Given the description of an element on the screen output the (x, y) to click on. 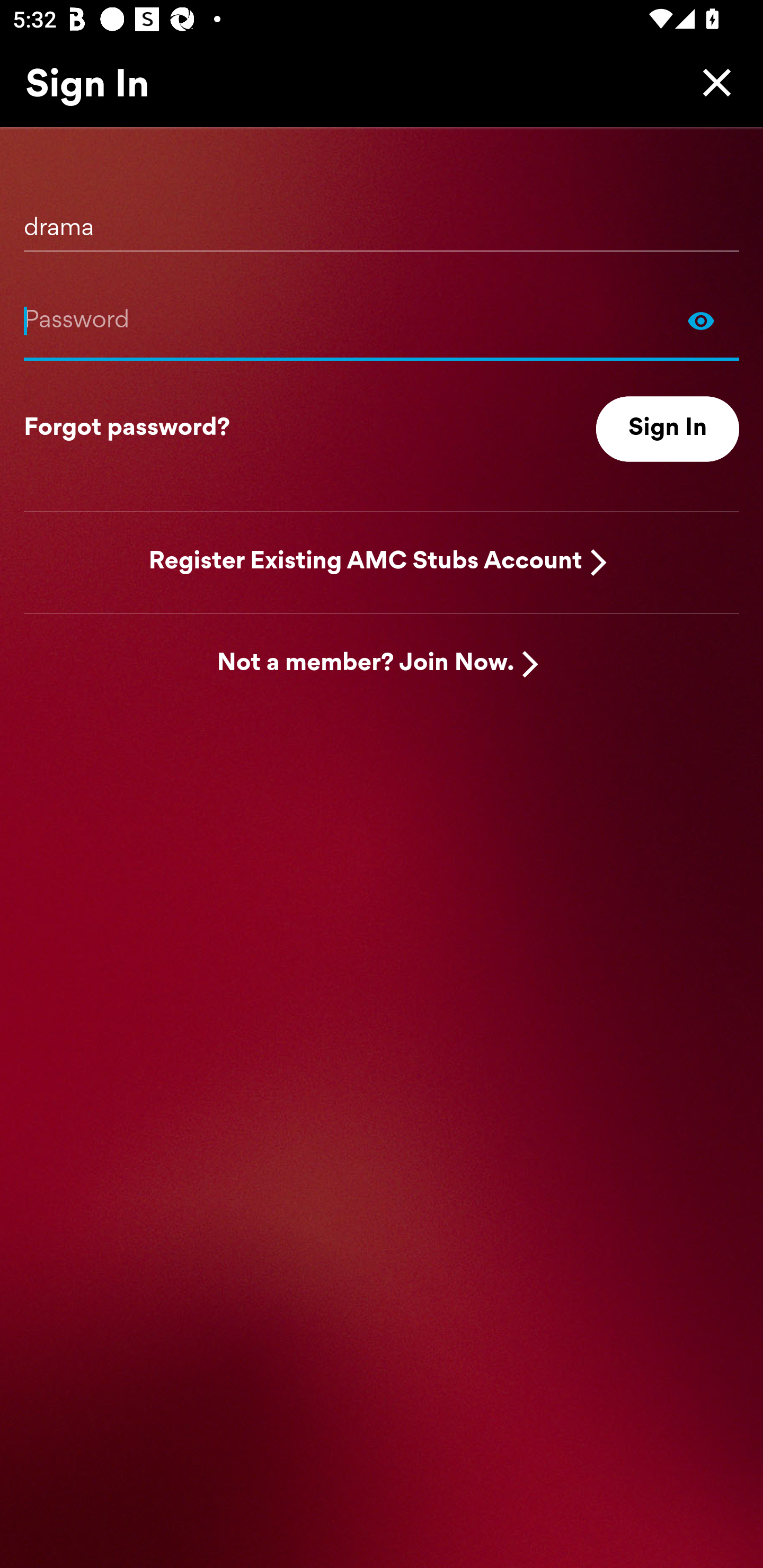
Close (712, 82)
drama (381, 220)
Show Password (381, 320)
Show Password (701, 320)
Forgot password? (126, 428)
Sign In (667, 428)
Register Existing AMC Stubs Account (365, 561)
Not a member? Join Now. (365, 663)
